Given the description of an element on the screen output the (x, y) to click on. 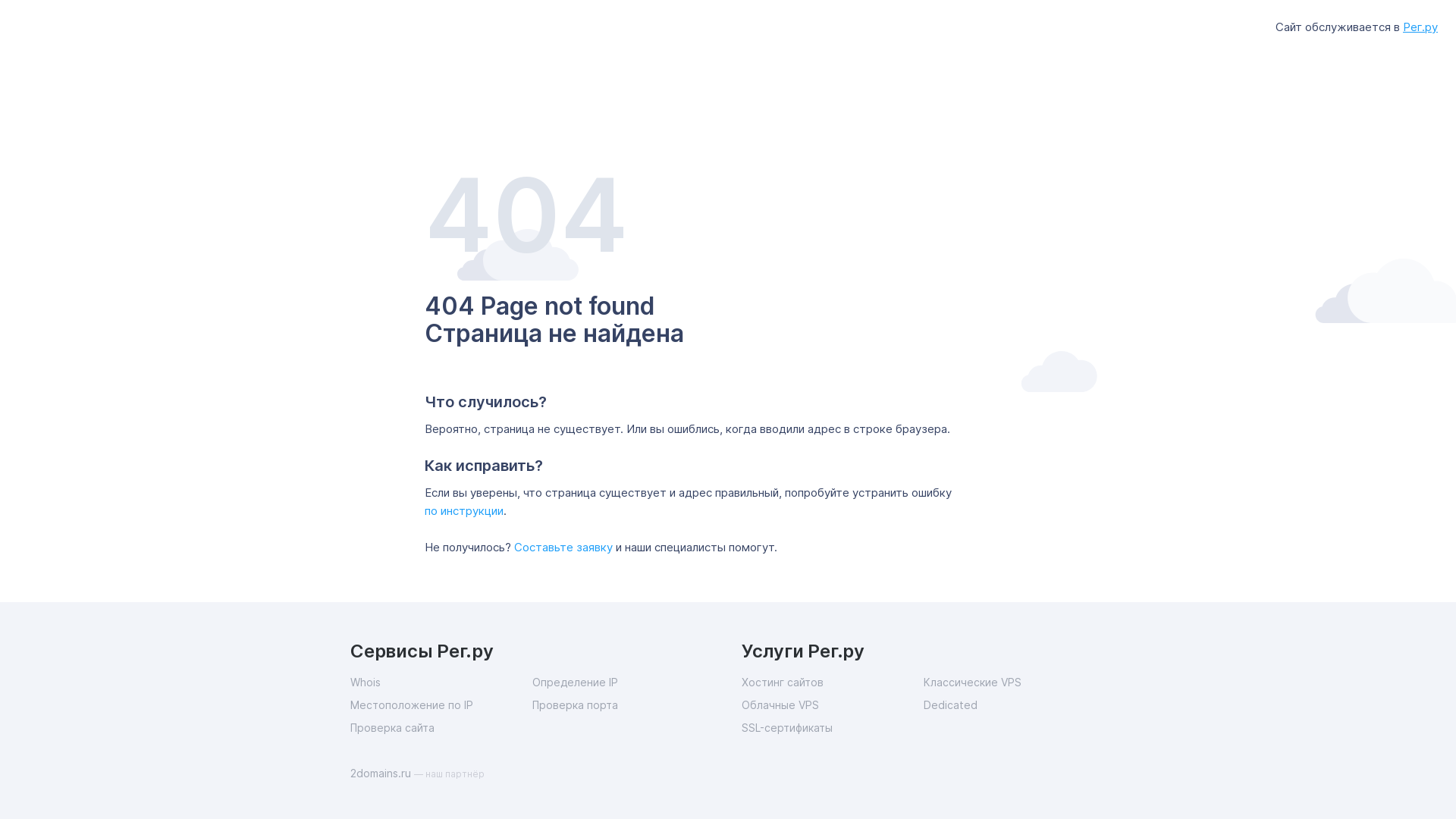
2domains.ru Element type: text (382, 772)
Whois Element type: text (441, 682)
Dedicated Element type: text (1014, 705)
